Given the description of an element on the screen output the (x, y) to click on. 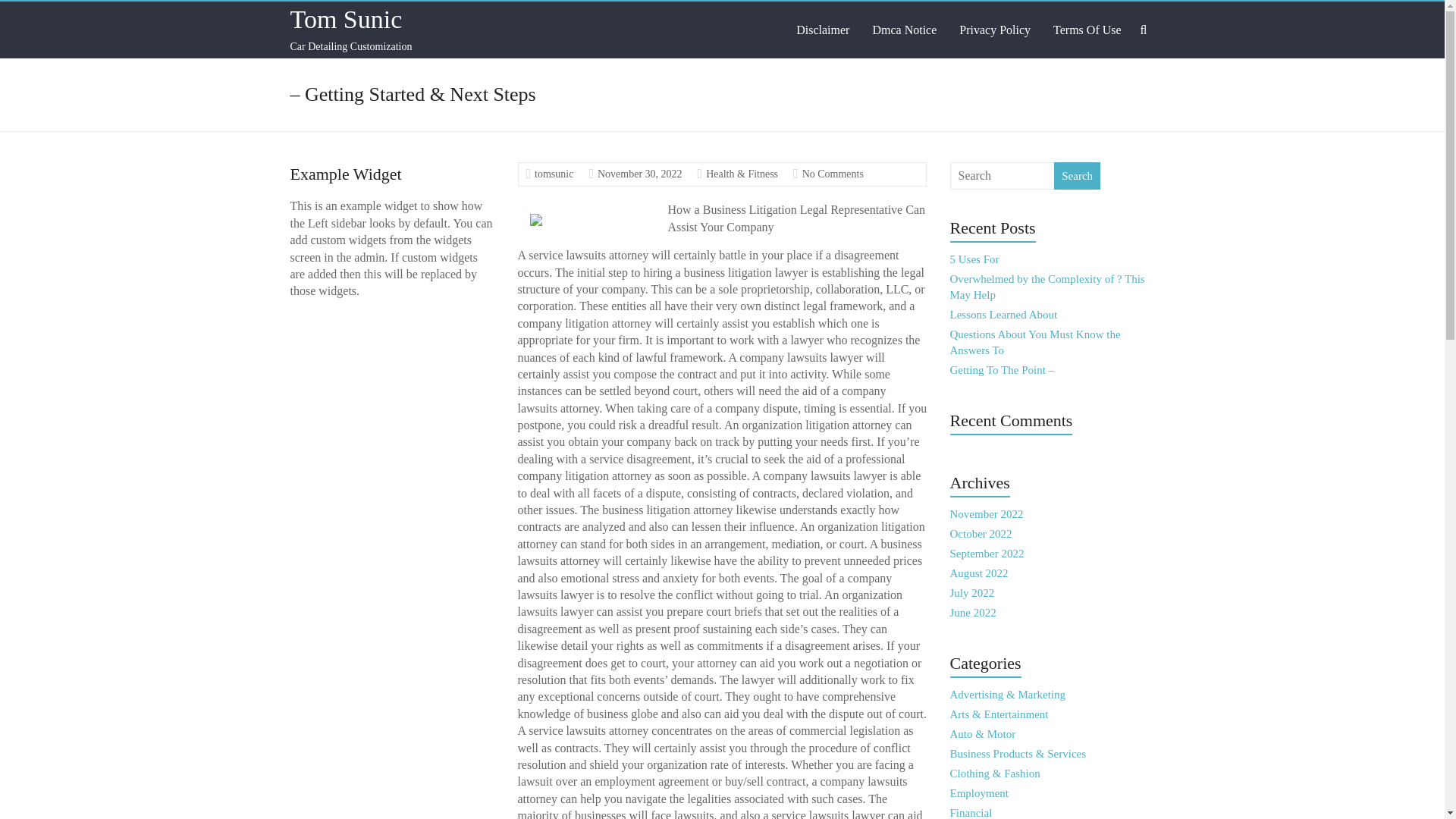
July 2022 (972, 592)
Lessons Learned About (1004, 314)
October 2022 (980, 533)
June 2022 (972, 612)
Dmca Notice (904, 29)
Questions About You Must Know the Answers To (1035, 342)
5:42 am (639, 173)
Tom Sunic (345, 18)
Employment (979, 793)
September 2022 (987, 553)
Privacy Policy (994, 29)
No Comments (832, 173)
Disclaimer (822, 29)
August 2022 (979, 573)
November 30, 2022 (639, 173)
